Given the description of an element on the screen output the (x, y) to click on. 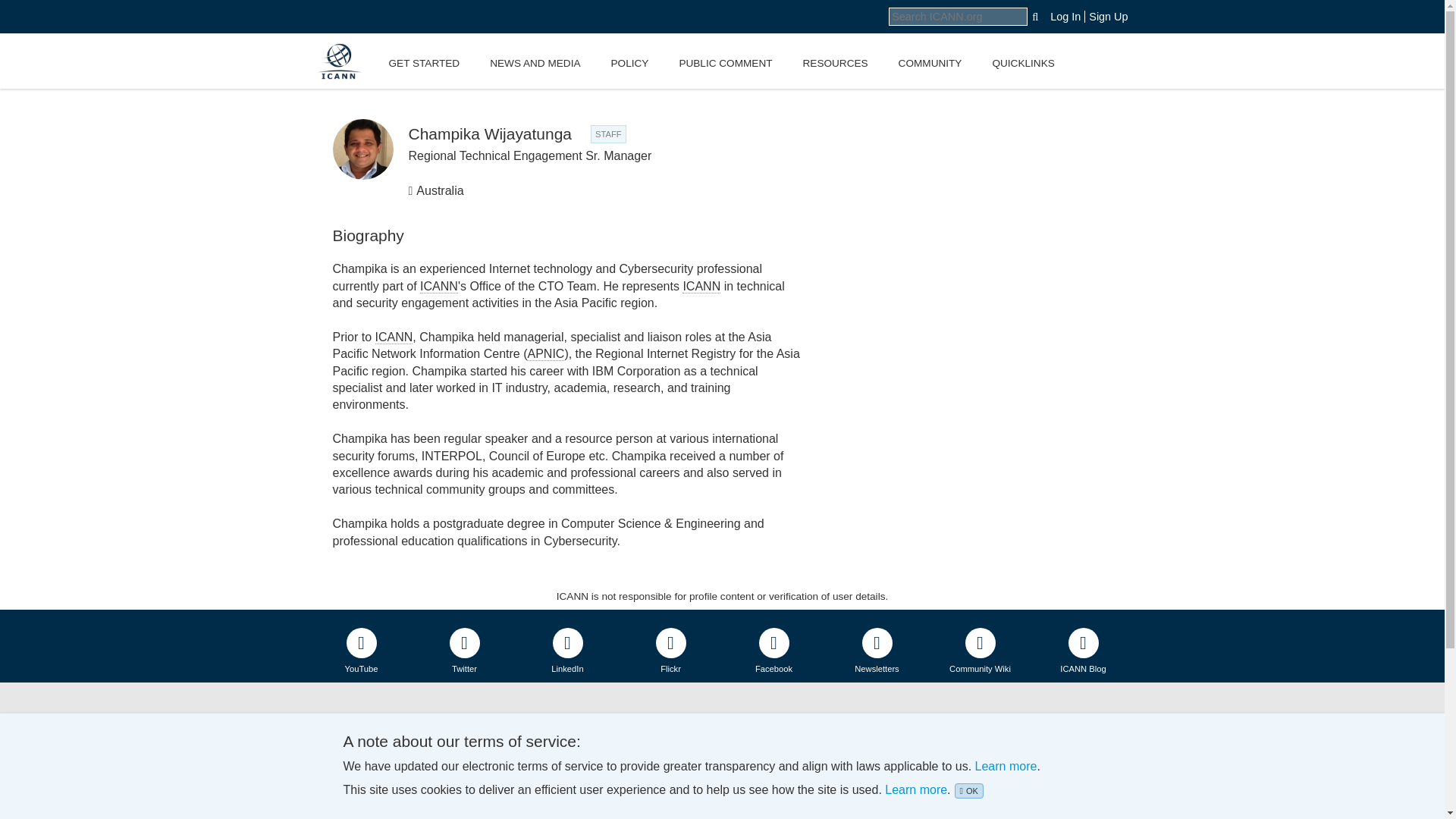
Asia-Pacific Network Information Center (545, 354)
Internet Corporation for Assigned Names and Numbers (394, 336)
GET STARTED (423, 60)
Log In (1065, 16)
Sign Up (1105, 16)
PUBLIC COMMENT (725, 60)
RESOURCES (834, 60)
POLICY (629, 60)
NEWS AND MEDIA (534, 60)
Internet Corporation for Assigned Names and Numbers (439, 286)
Internet Corporation for Assigned Names and Numbers (701, 286)
